Given the description of an element on the screen output the (x, y) to click on. 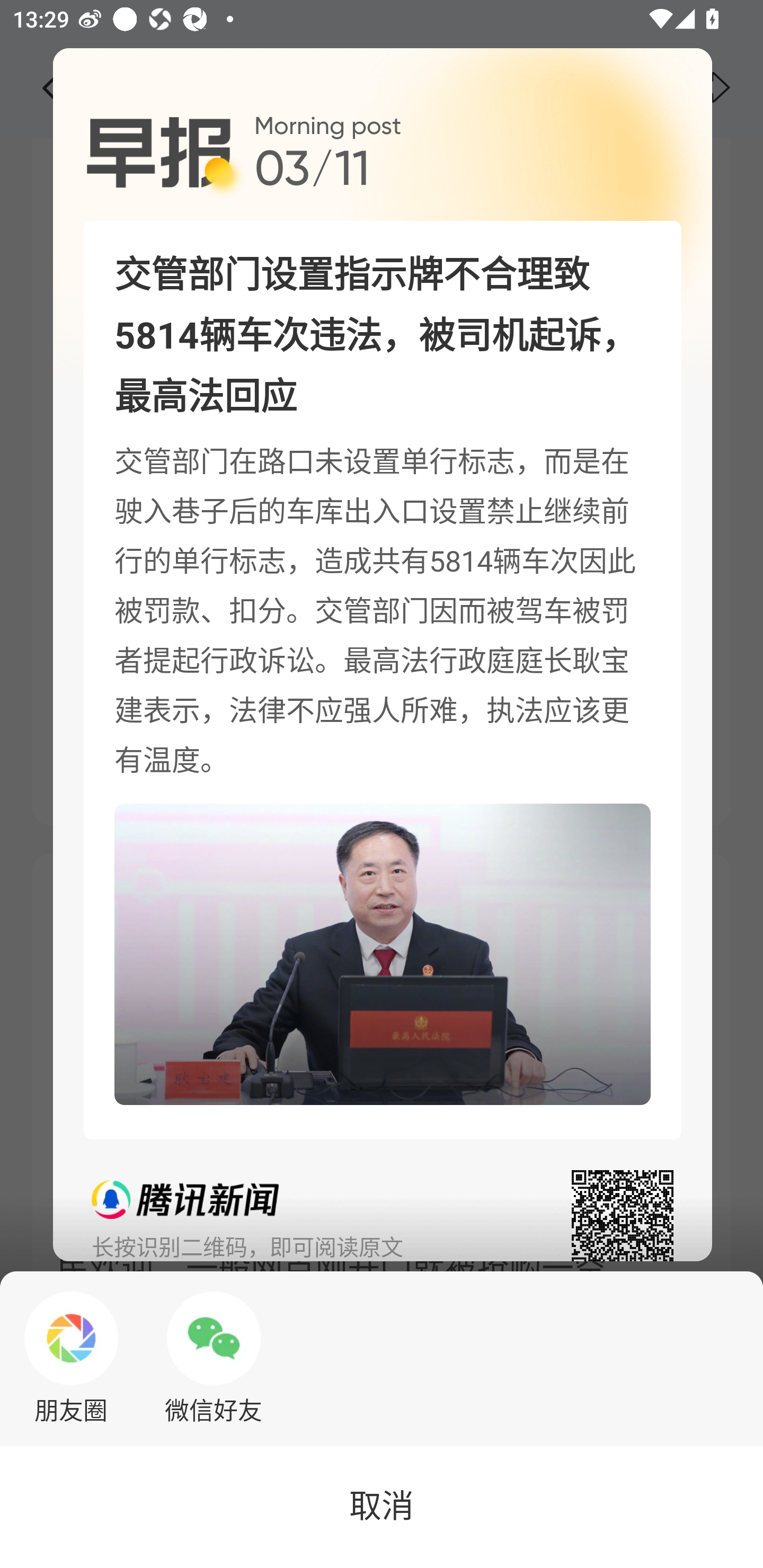
朋友圈 (71, 1358)
微信好友 (213, 1358)
取消 (381, 1506)
